Given the description of an element on the screen output the (x, y) to click on. 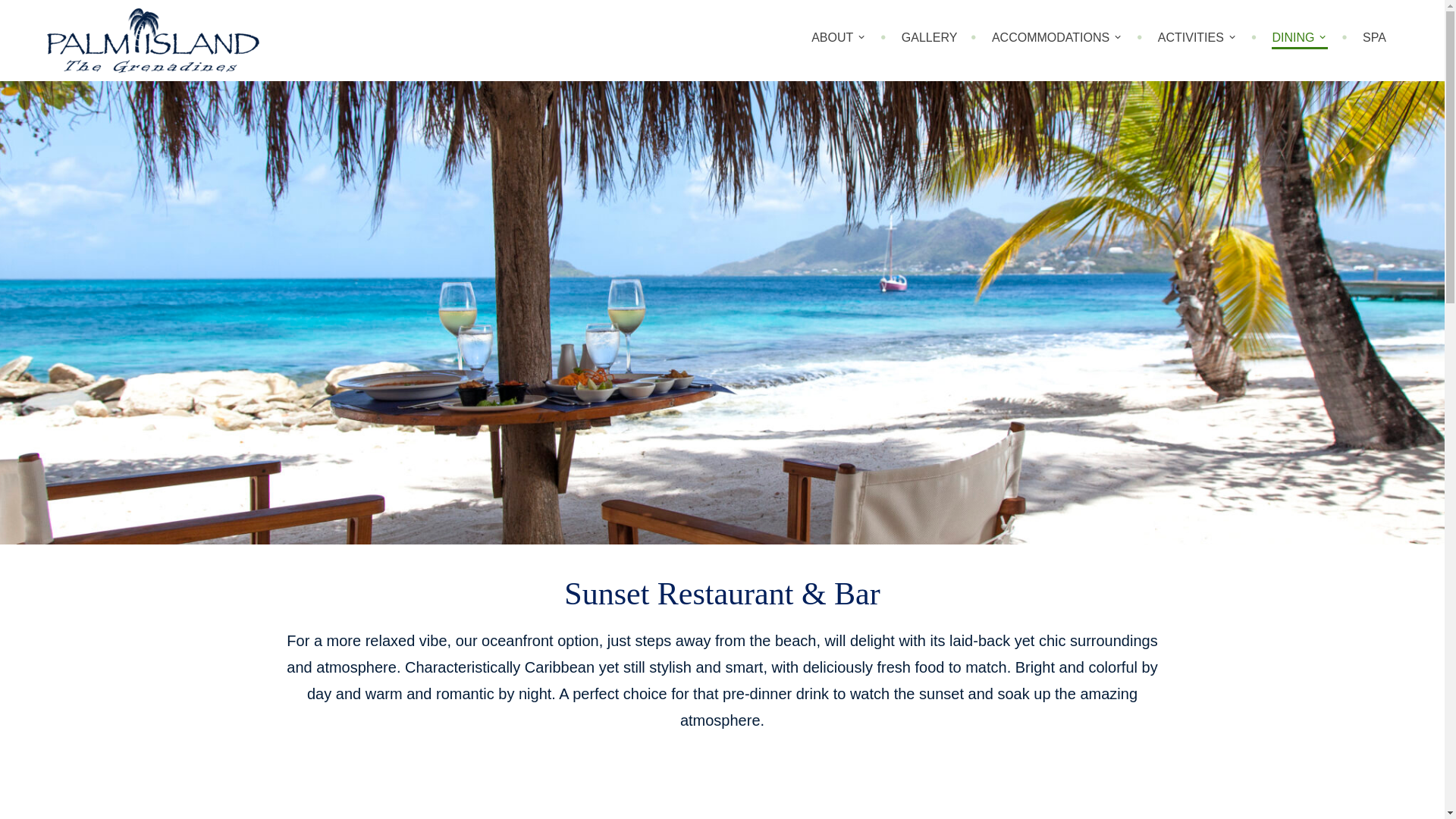
GALLERY (929, 37)
ACCOMMODATIONS (1056, 37)
ACTIVITIES (1197, 37)
SPA (1374, 37)
ABOUT (838, 37)
DINING (1299, 40)
